Given the description of an element on the screen output the (x, y) to click on. 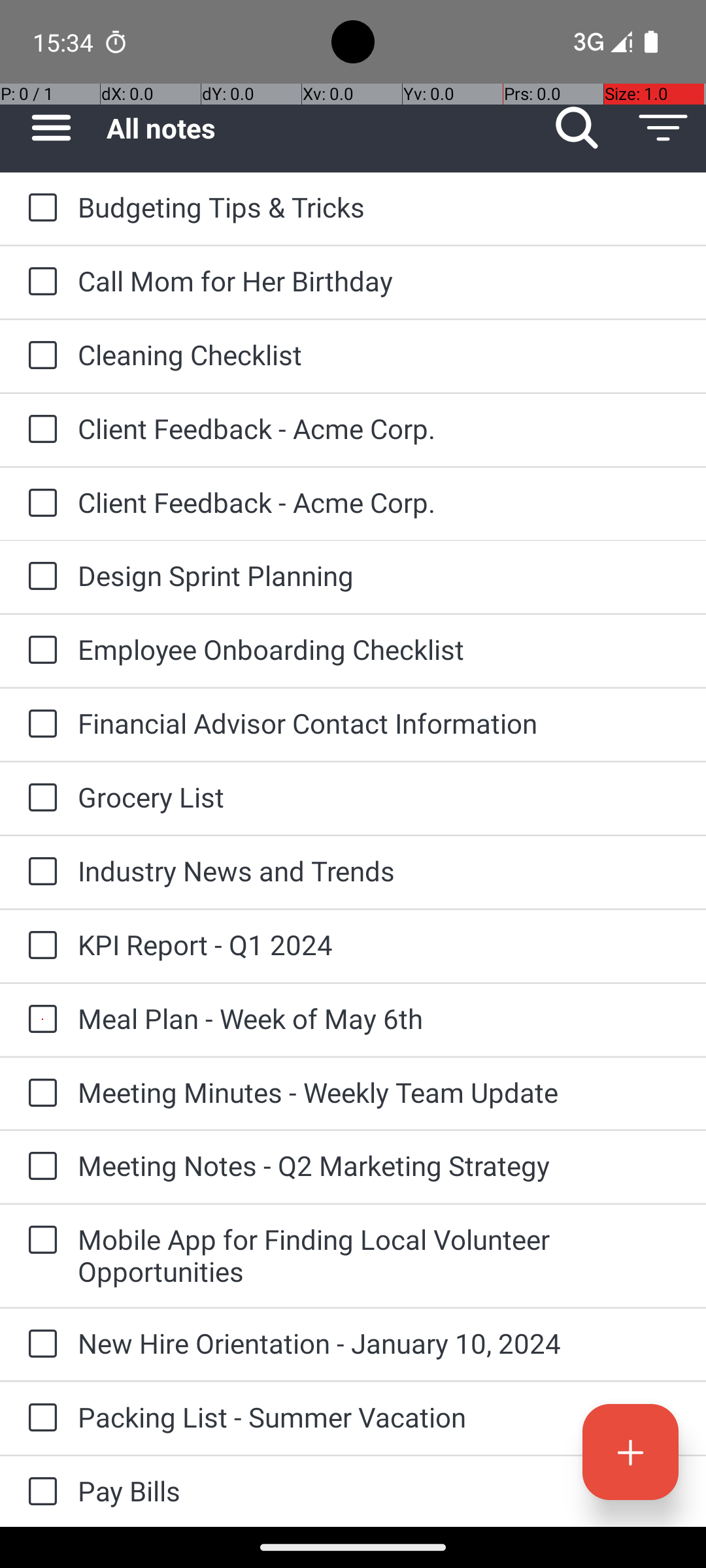
to-do: Budgeting Tips & Tricks Element type: android.widget.CheckBox (38, 208)
to-do: Call Mom for Her Birthday Element type: android.widget.CheckBox (38, 282)
Call Mom for Her Birthday Element type: android.widget.TextView (378, 280)
to-do: Cleaning Checklist Element type: android.widget.CheckBox (38, 356)
Cleaning Checklist Element type: android.widget.TextView (378, 354)
to-do: Client Feedback - Acme Corp. Element type: android.widget.CheckBox (38, 429)
Client Feedback - Acme Corp. Element type: android.widget.TextView (378, 427)
to-do: Design Sprint Planning Element type: android.widget.CheckBox (38, 576)
Design Sprint Planning Element type: android.widget.TextView (378, 574)
to-do: Employee Onboarding Checklist Element type: android.widget.CheckBox (38, 650)
Employee Onboarding Checklist Element type: android.widget.TextView (378, 648)
to-do: Grocery List Element type: android.widget.CheckBox (38, 798)
Grocery List Element type: android.widget.TextView (378, 796)
to-do: Industry News and Trends Element type: android.widget.CheckBox (38, 872)
Industry News and Trends Element type: android.widget.TextView (378, 870)
to-do: KPI Report - Q1 2024 Element type: android.widget.CheckBox (38, 945)
KPI Report - Q1 2024 Element type: android.widget.TextView (378, 944)
to-do: Meal Plan - Week of May 6th Element type: android.widget.CheckBox (38, 1019)
Meal Plan - Week of May 6th Element type: android.widget.TextView (378, 1017)
to-do: Meeting Minutes - Weekly Team Update Element type: android.widget.CheckBox (38, 1093)
Meeting Minutes - Weekly Team Update Element type: android.widget.TextView (378, 1091)
to-do: Meeting Notes - Q2 Marketing Strategy Element type: android.widget.CheckBox (38, 1166)
Meeting Notes - Q2 Marketing Strategy Element type: android.widget.TextView (378, 1164)
to-do: Mobile App for Finding Local Volunteer Opportunities Element type: android.widget.CheckBox (38, 1240)
Mobile App for Finding Local Volunteer Opportunities Element type: android.widget.TextView (378, 1254)
to-do: New Hire Orientation - January 10, 2024 Element type: android.widget.CheckBox (38, 1344)
New Hire Orientation - January 10, 2024 Element type: android.widget.TextView (378, 1342)
to-do: Packing List - Summer Vacation Element type: android.widget.CheckBox (38, 1418)
Packing List - Summer Vacation Element type: android.widget.TextView (378, 1416)
to-do: Pay Bills Element type: android.widget.CheckBox (38, 1491)
Pay Bills Element type: android.widget.TextView (378, 1490)
